Given the description of an element on the screen output the (x, y) to click on. 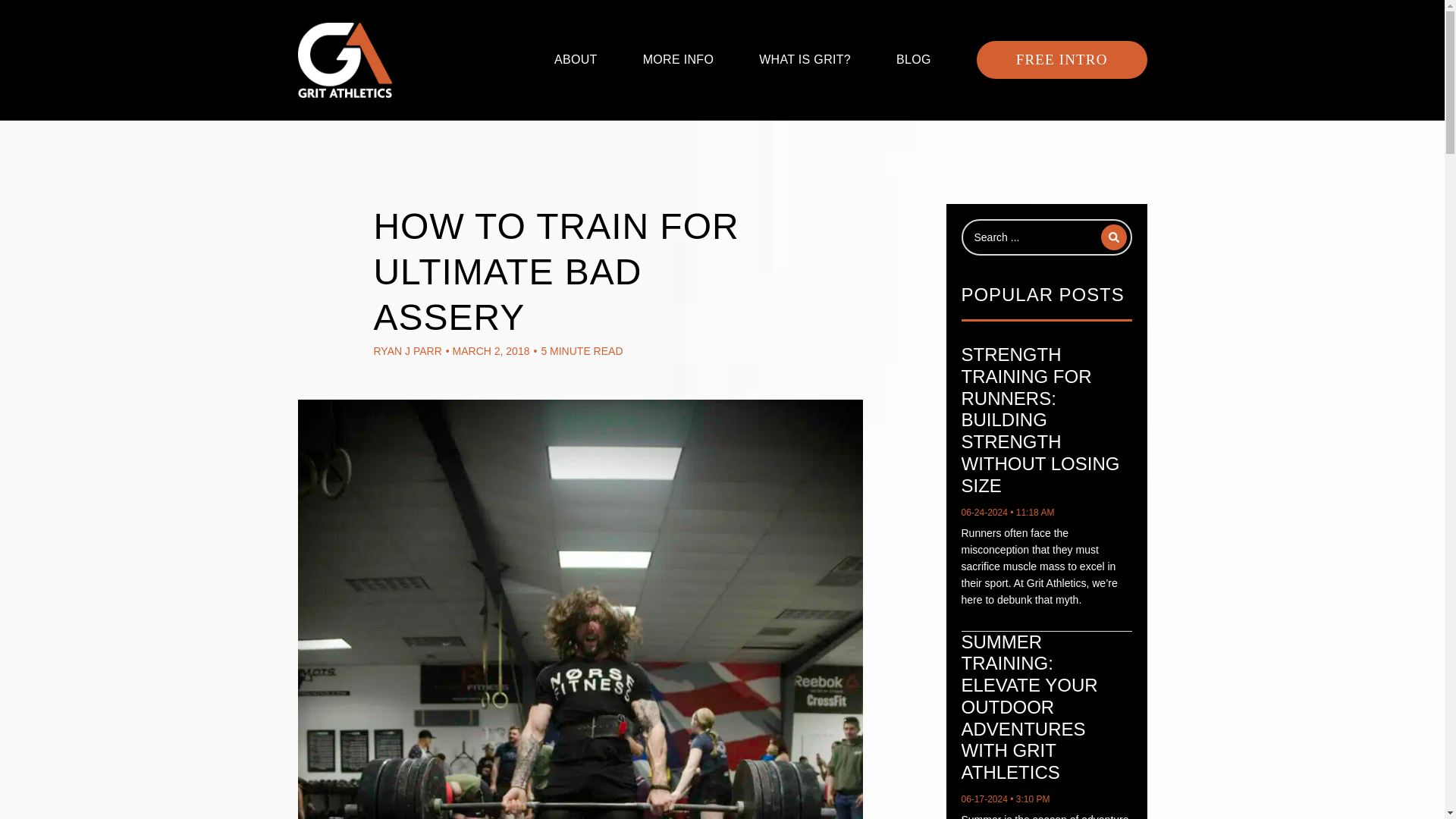
FREE INTRO (1061, 59)
ABOUT (575, 59)
BLOG (913, 59)
WHAT IS GRIT? (804, 59)
MORE INFO (678, 59)
